Given the description of an element on the screen output the (x, y) to click on. 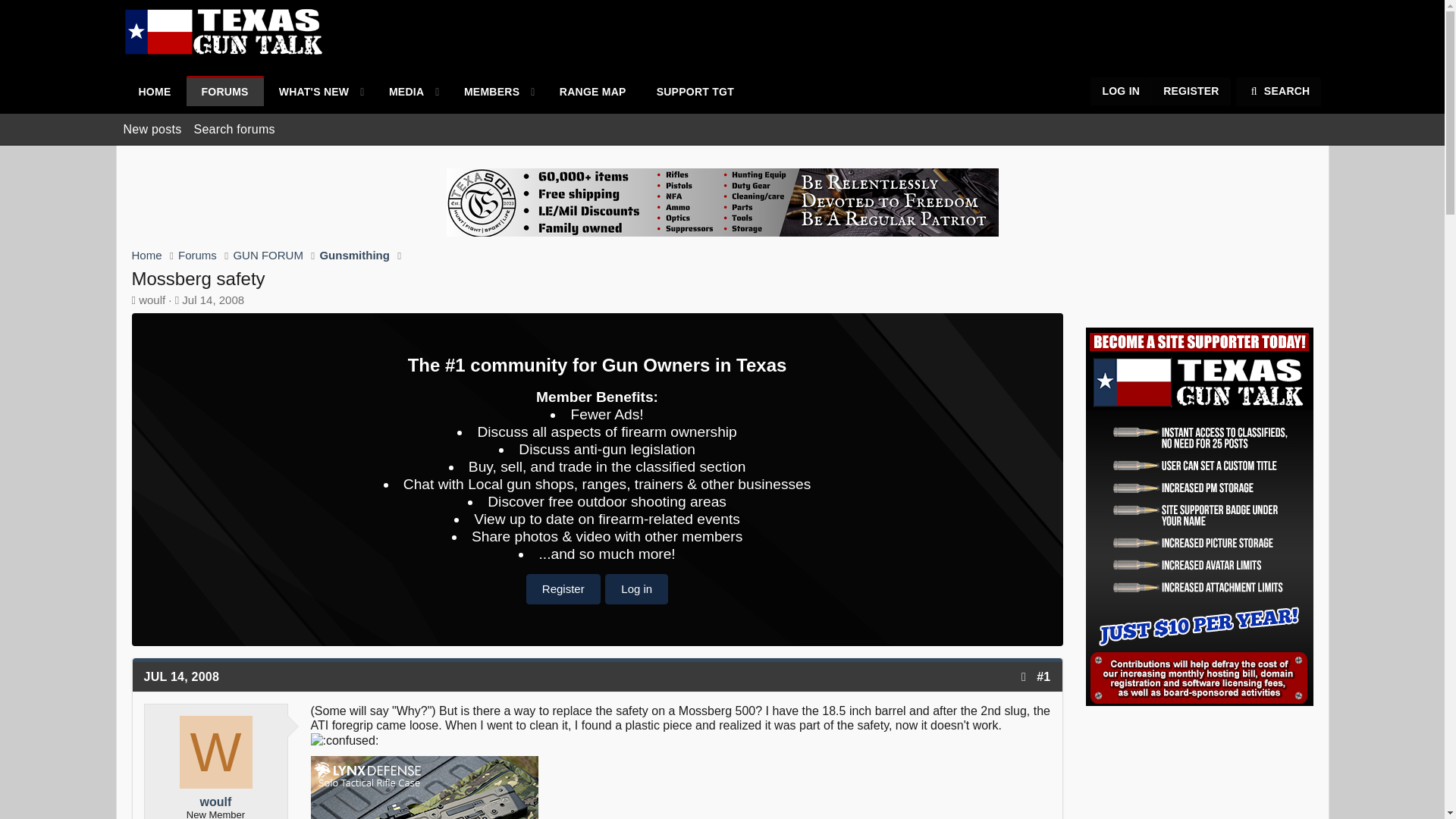
SUPPORT TGT (695, 91)
RANGE MAP (593, 91)
LOG IN (435, 91)
MEMBERS (1120, 90)
REGISTER (484, 91)
Jul 14, 2008 at 9:06 AM (1190, 90)
WHAT'S NEW (181, 676)
FORUMS (306, 91)
HOME (224, 91)
SEARCH (154, 91)
Jul 14, 2008 at 9:06 AM (721, 128)
Search (435, 91)
